Given the description of an element on the screen output the (x, y) to click on. 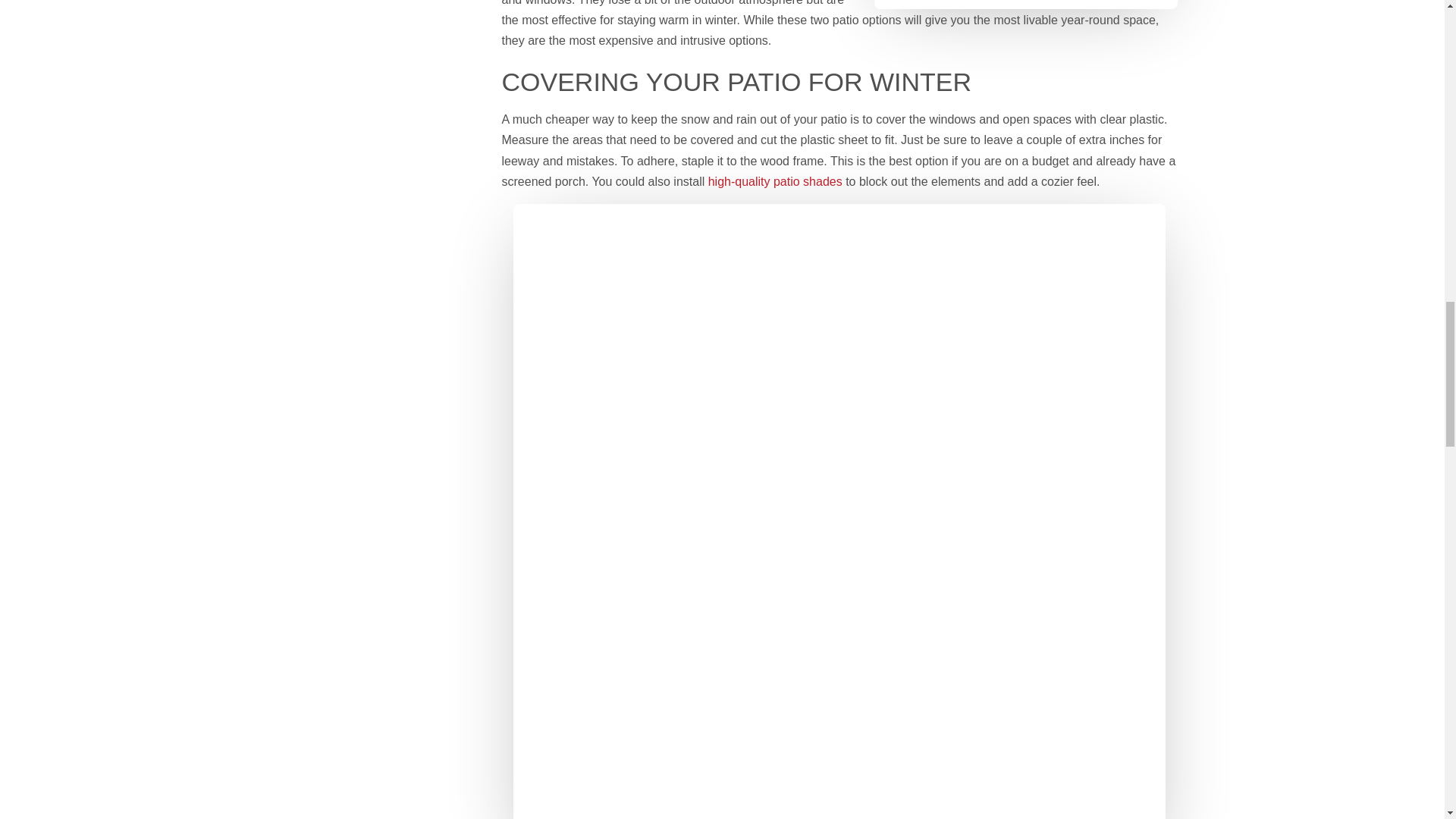
 - US Custom Creations (1024, 4)
Motorized Patio Shade (775, 181)
